Given the description of an element on the screen output the (x, y) to click on. 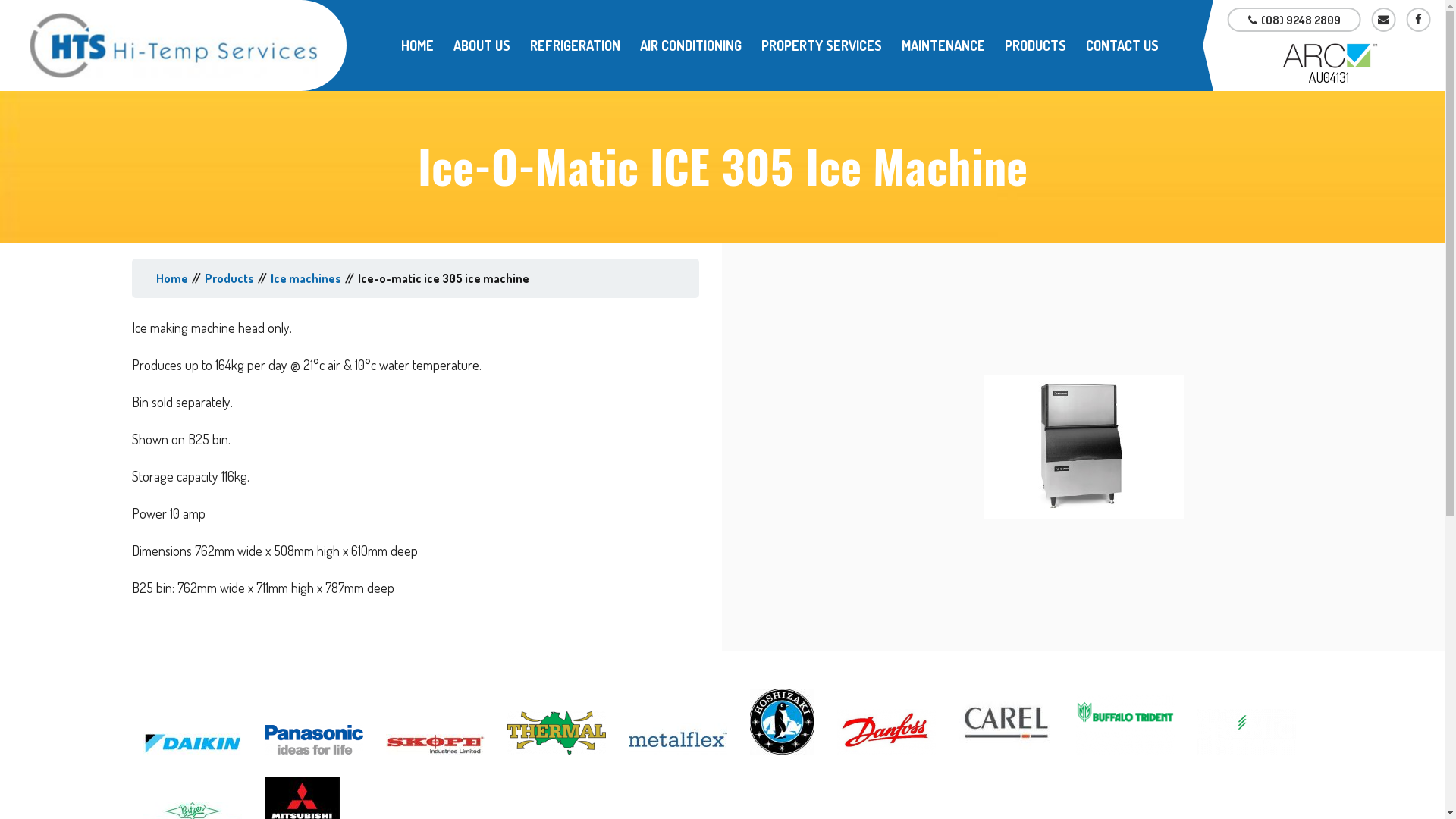
(08) 9248 2809 Element type: text (1294, 19)
PRODUCTS Element type: text (1035, 45)
home Element type: text (171, 277)
MAINTENANCE Element type: text (942, 45)
HI-TEMP SERVICES Element type: hover (172, 45)
ice machines Element type: text (305, 277)
Our Facebook page Element type: hover (1418, 19)
ABOUT US Element type: text (481, 45)
REFRIGERATION Element type: text (575, 45)
CONTACT US Element type: text (1122, 45)
PROPERTY SERVICES Element type: text (821, 45)
AIR CONDITIONING Element type: text (690, 45)
ice305 Element type: hover (1083, 446)
products Element type: text (229, 277)
HOME Element type: text (417, 45)
